Given the description of an element on the screen output the (x, y) to click on. 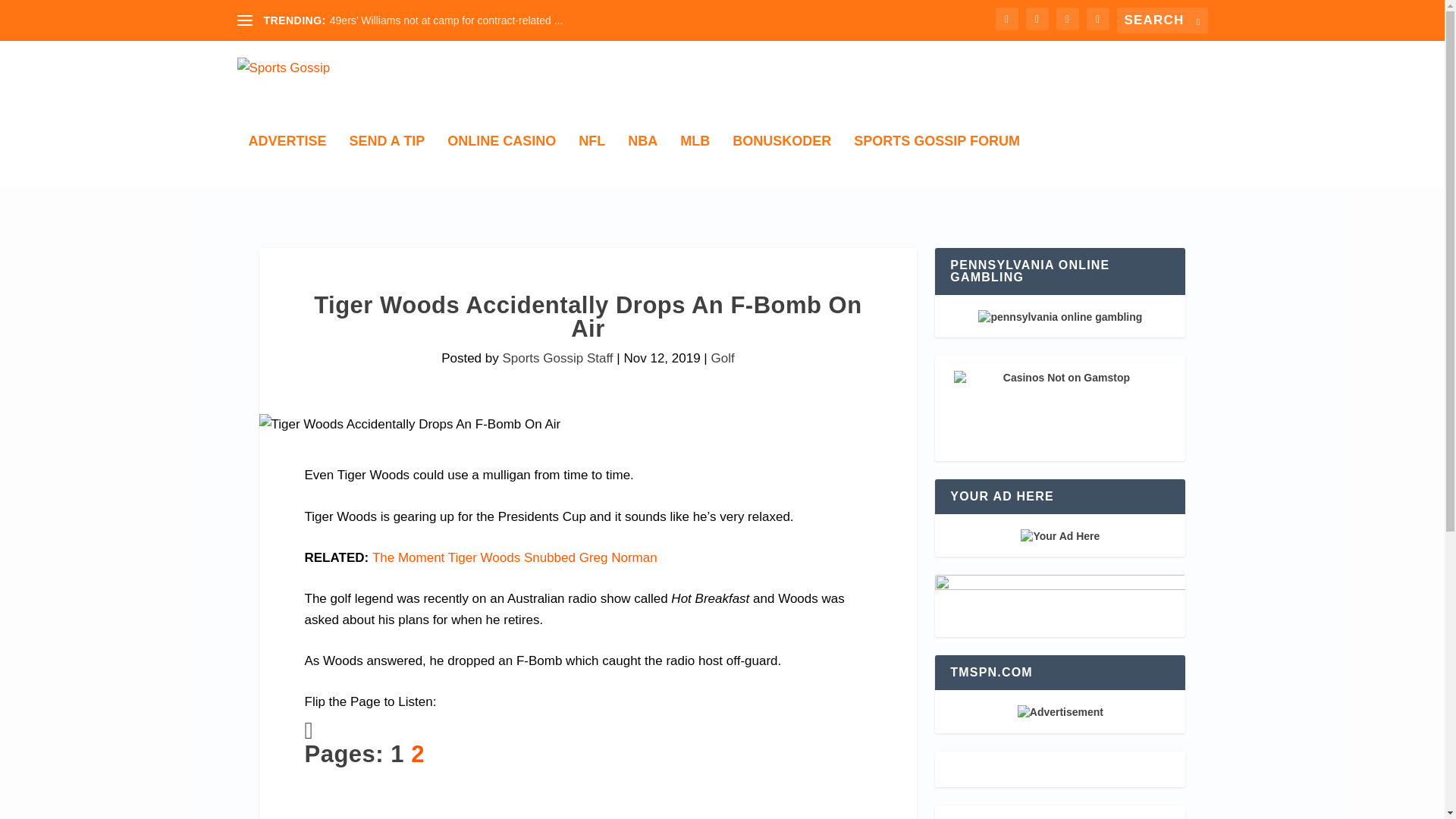
Golf (723, 358)
Casinos Not on Gamstop (1059, 408)
NFL (591, 161)
BONUSKODER (781, 161)
ONLINE CASINO (501, 161)
Search for: (1161, 20)
The Moment Tiger Woods Snubbed Greg Norman (515, 557)
MLB (694, 161)
ADVERTISE (287, 161)
SPORTS GOSSIP FORUM (936, 161)
NBA (642, 161)
Posts by Sports Gossip Staff (557, 358)
Sports Gossip Staff (557, 358)
SEND A TIP (387, 161)
2 (417, 754)
